Given the description of an element on the screen output the (x, y) to click on. 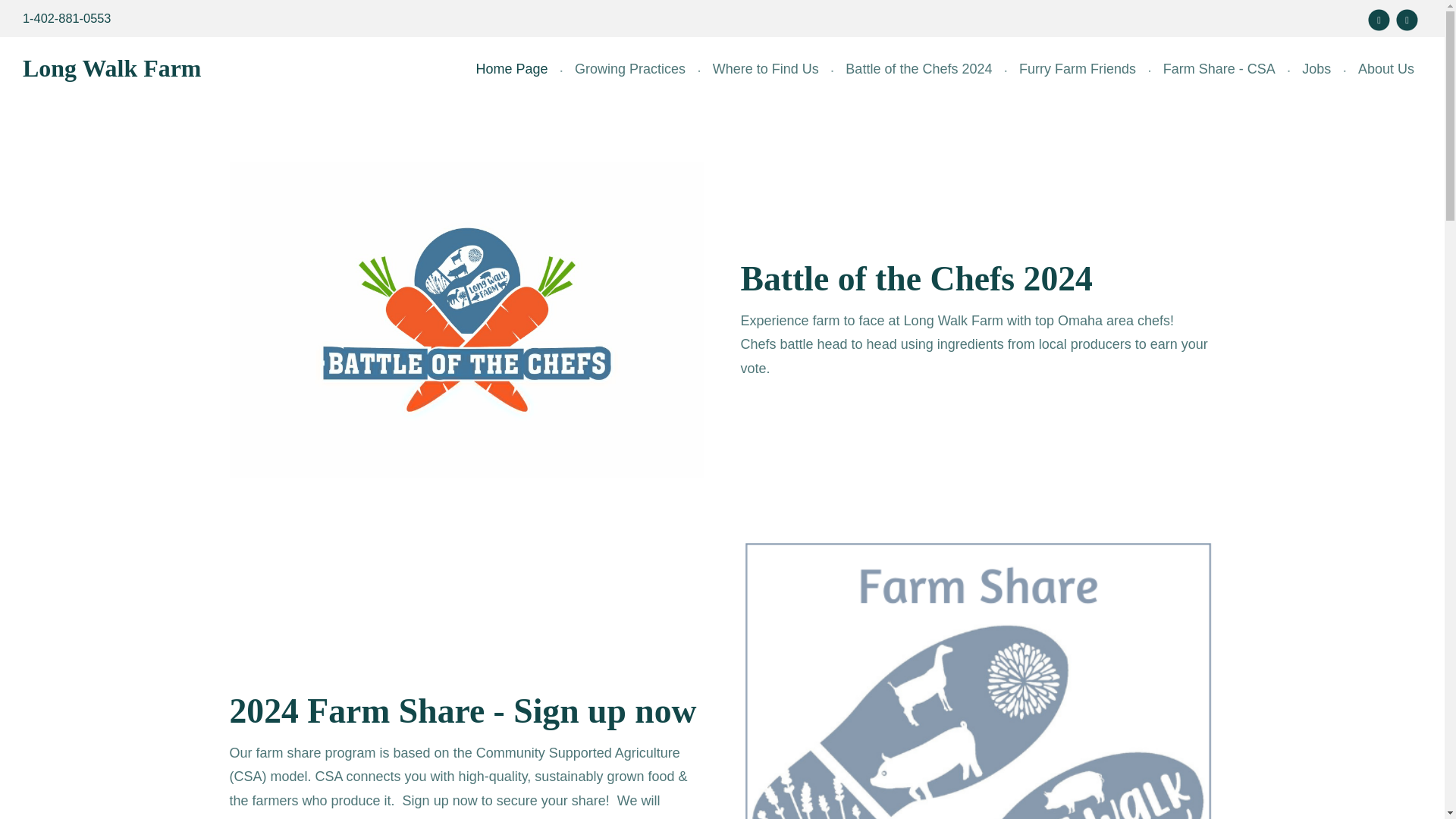
About Us (1386, 68)
Where to Find Us (765, 68)
Growing Practices (630, 68)
1-402-881-0553 (66, 18)
Furry Farm Friends (1076, 68)
Jobs (1316, 68)
Home Page (510, 68)
Farm Share - CSA (1219, 68)
Long Walk Farm (111, 68)
Battle of the Chefs 2024 (918, 68)
